Given the description of an element on the screen output the (x, y) to click on. 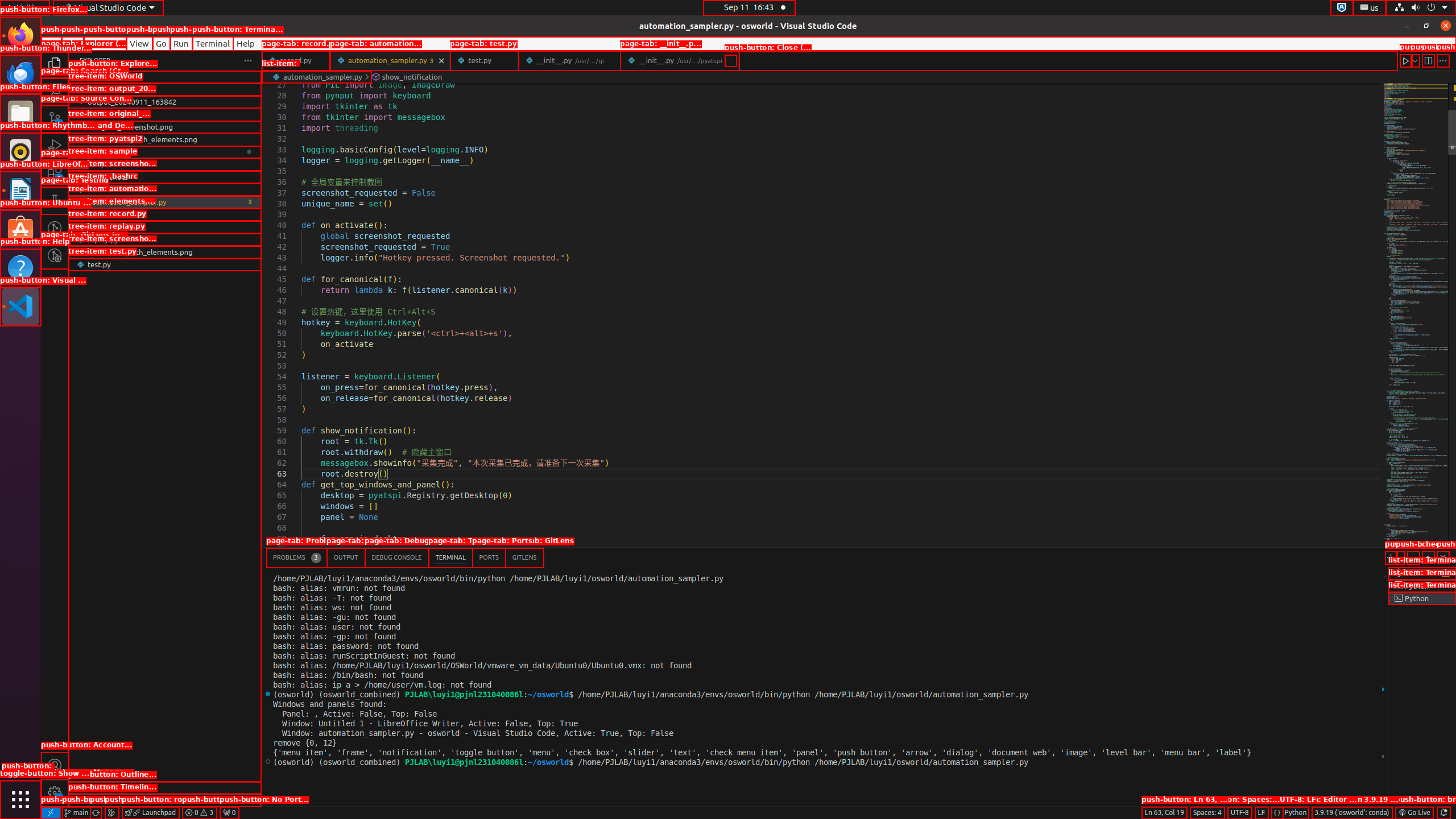
broadcast Go Live, Click to run live server Element type: push-button (1414, 812)
GitLens Element type: page-tab (524, 557)
Terminal 5 Python Element type: list-item (1422, 598)
Source Control (Ctrl+Shift+G G) - 1 pending changes Element type: page-tab (54, 118)
Terminal (Ctrl+`) Element type: page-tab (450, 557)
